Given the description of an element on the screen output the (x, y) to click on. 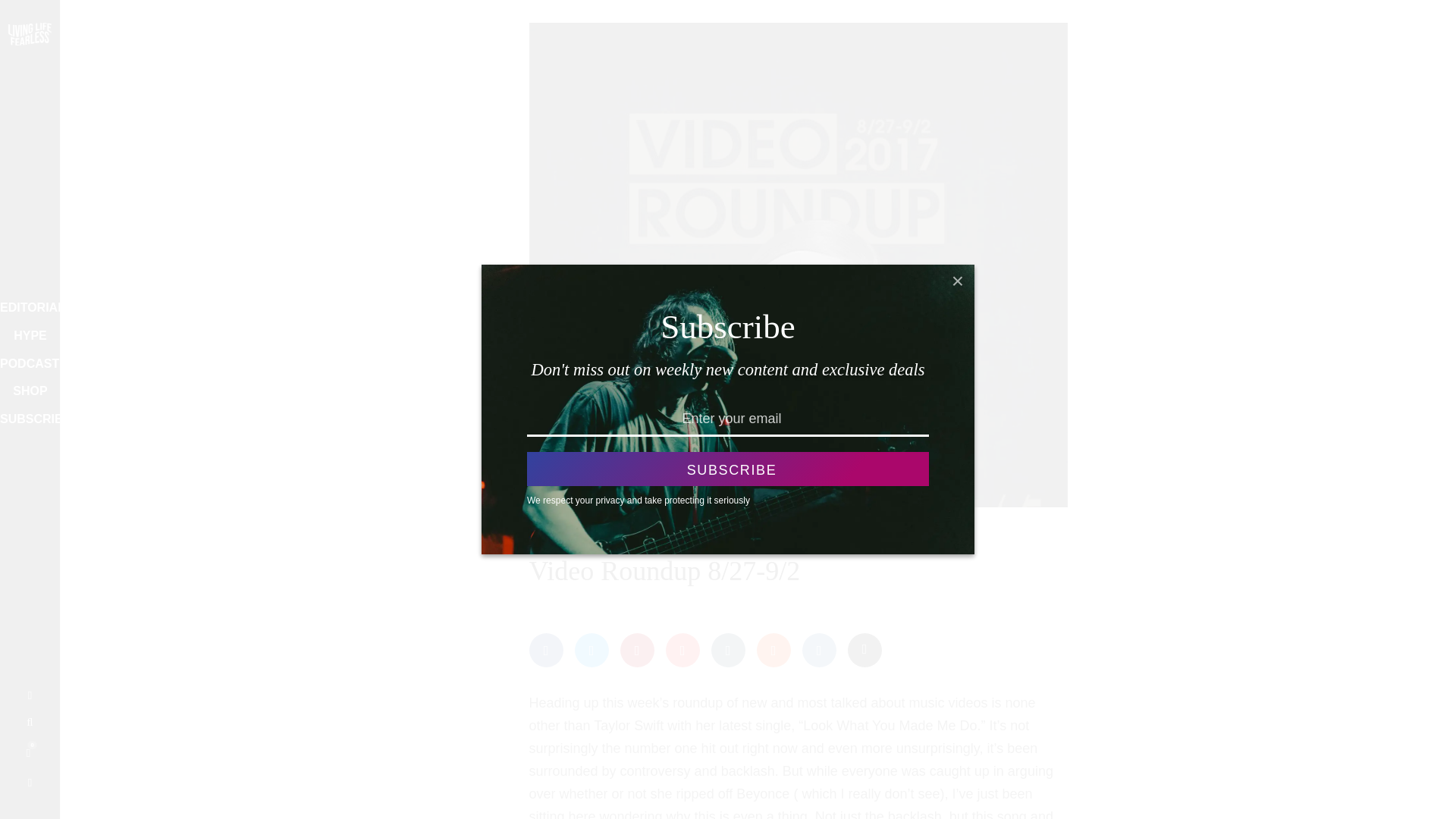
PODCASTS (24, 363)
SHOP (25, 391)
Opinions (613, 538)
HYPE (30, 335)
SUBSCRIBE! (26, 419)
Subscribe (727, 469)
Dario Hunt (554, 538)
Subscribe (727, 469)
